Given the description of an element on the screen output the (x, y) to click on. 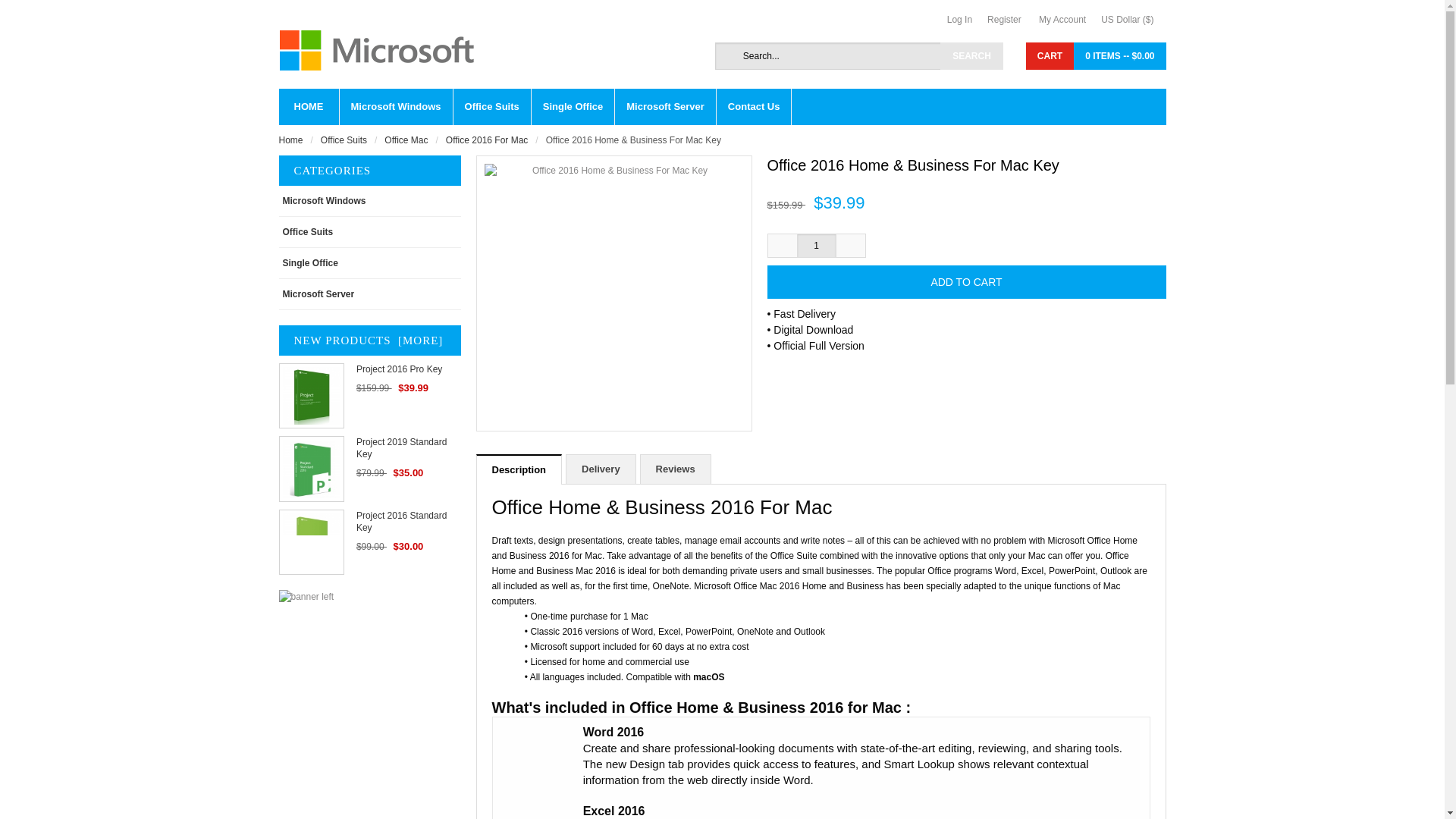
My Account (1069, 19)
Office Suits (491, 106)
Search... (858, 55)
Search (971, 55)
 Project 2019 Standard Key  (310, 468)
Microsoft Windows (395, 106)
Project 2019 Standard Key (408, 447)
Add to Cart (966, 281)
Project 2016 Pro Key (408, 369)
- (782, 245)
 Project 2016 Pro Key  (310, 395)
Register (1011, 19)
1 (816, 245)
HOME (309, 106)
